Given the description of an element on the screen output the (x, y) to click on. 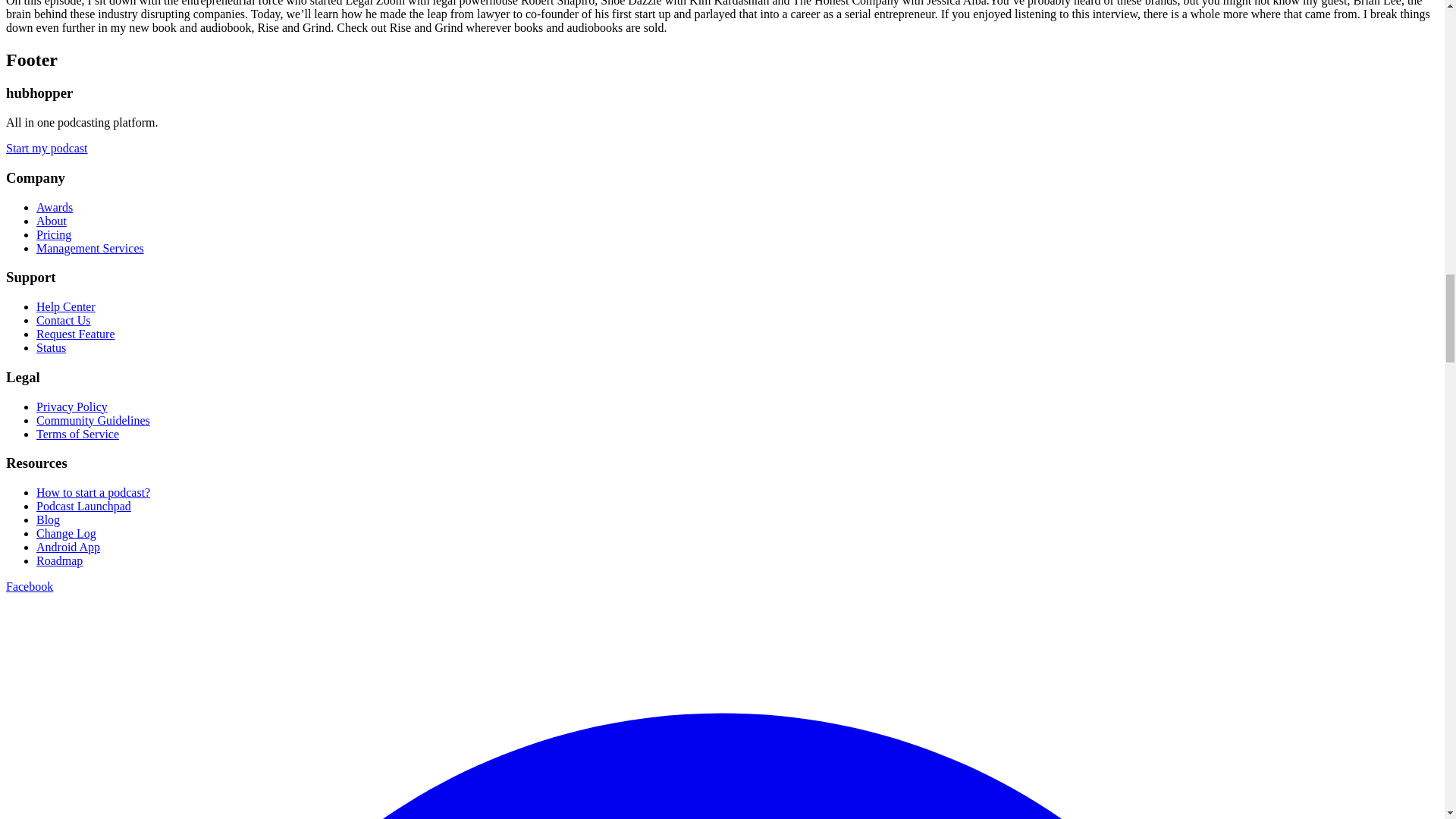
How to start a podcast? (92, 492)
Terms of Service (77, 433)
Blog (47, 519)
Roadmap (59, 560)
Privacy Policy (71, 406)
Community Guidelines (92, 420)
Management Services (90, 247)
Request Feature (75, 333)
Pricing (53, 234)
Change Log (66, 533)
